Given the description of an element on the screen output the (x, y) to click on. 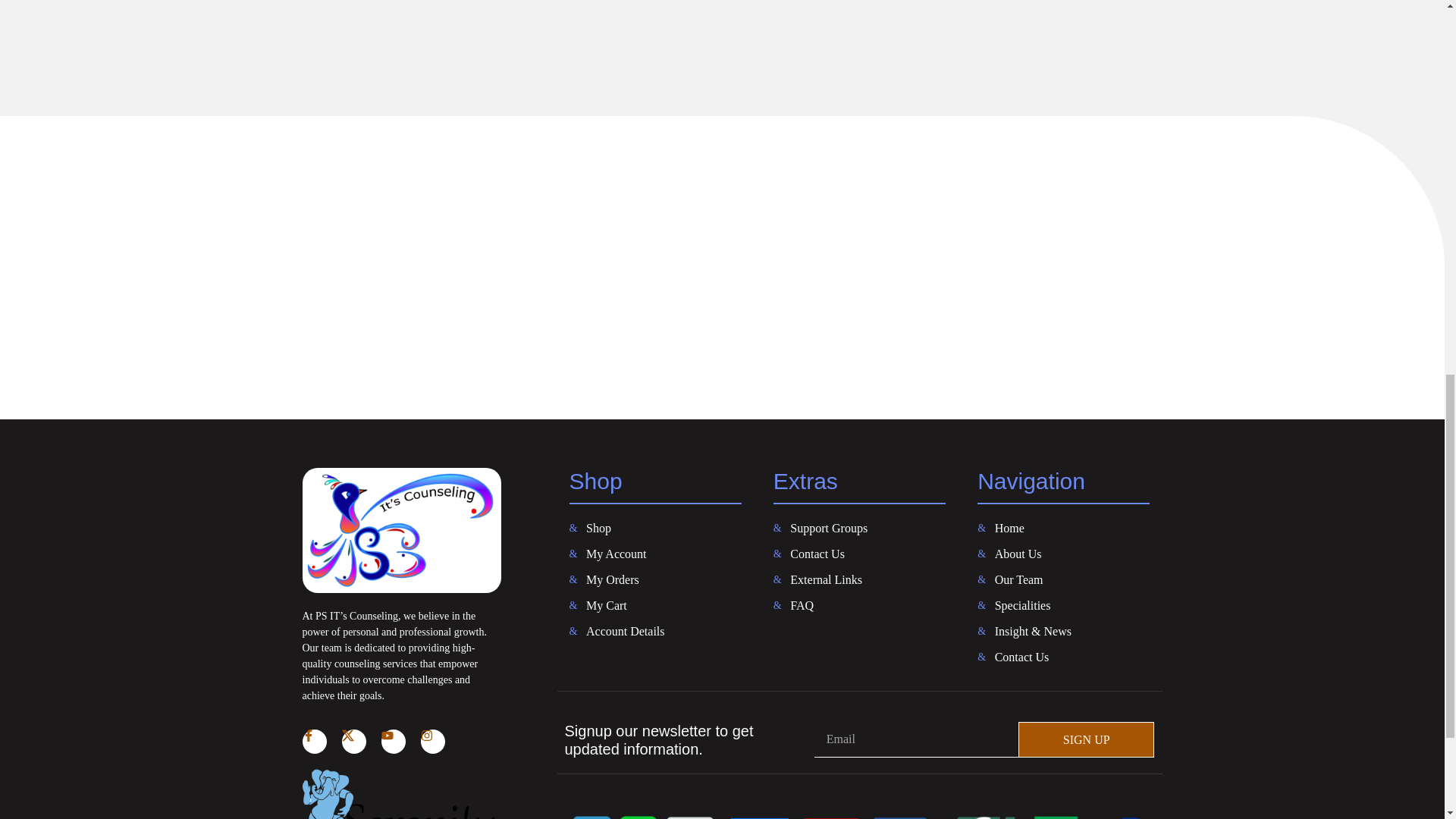
Support Groups (858, 528)
My Account (655, 554)
Contact Us (1063, 657)
FAQ (858, 606)
My Orders (655, 579)
Shop (655, 528)
Account Details (655, 631)
Specialities (1063, 606)
About Us (1063, 554)
Contact Us (858, 554)
Home (1063, 528)
Our Team (1063, 579)
External Links (858, 579)
